Given the description of an element on the screen output the (x, y) to click on. 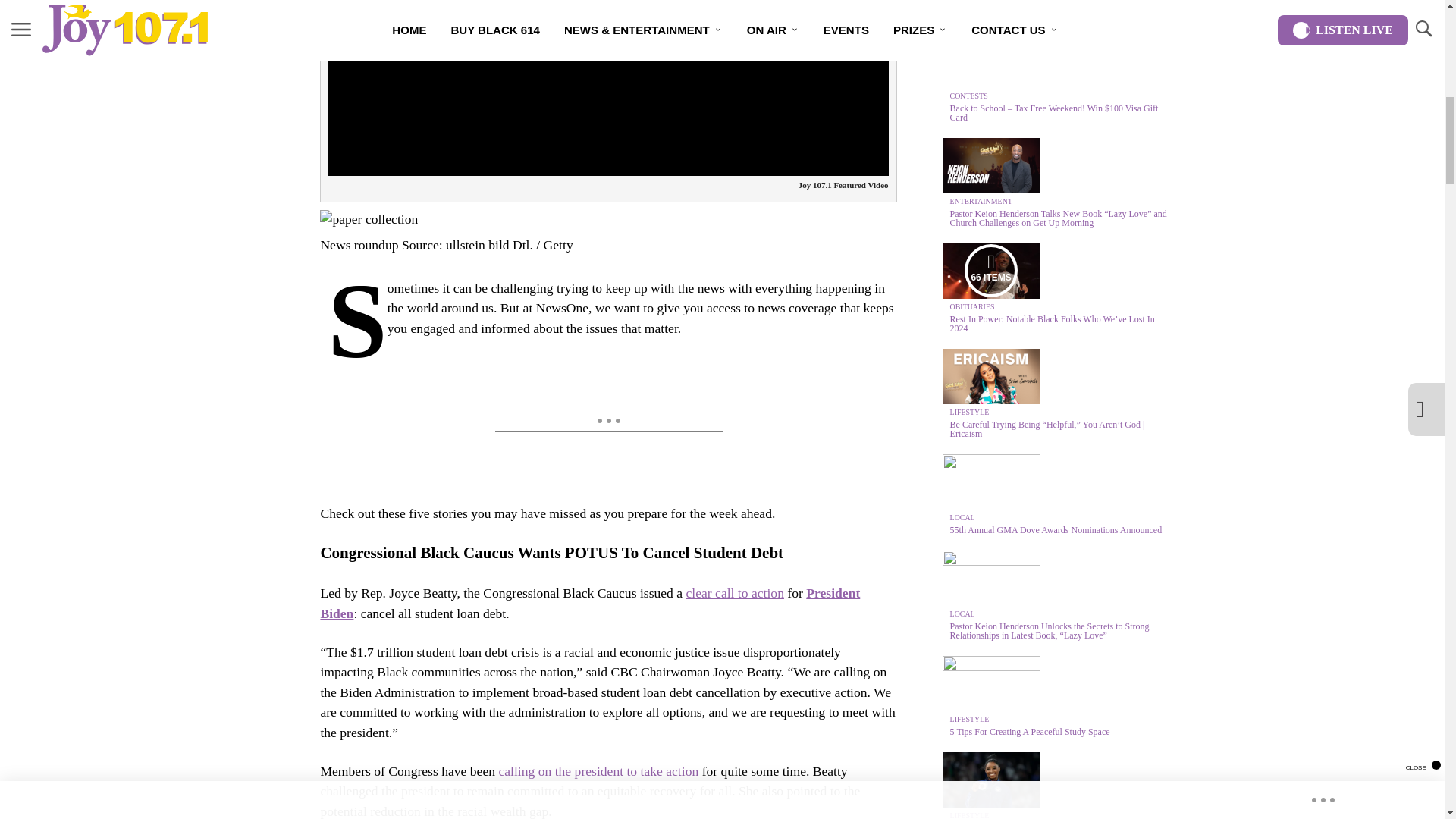
President Biden (590, 602)
Media Playlist (990, 270)
calling on the president to take action (597, 770)
clear call to action (734, 592)
